Given the description of an element on the screen output the (x, y) to click on. 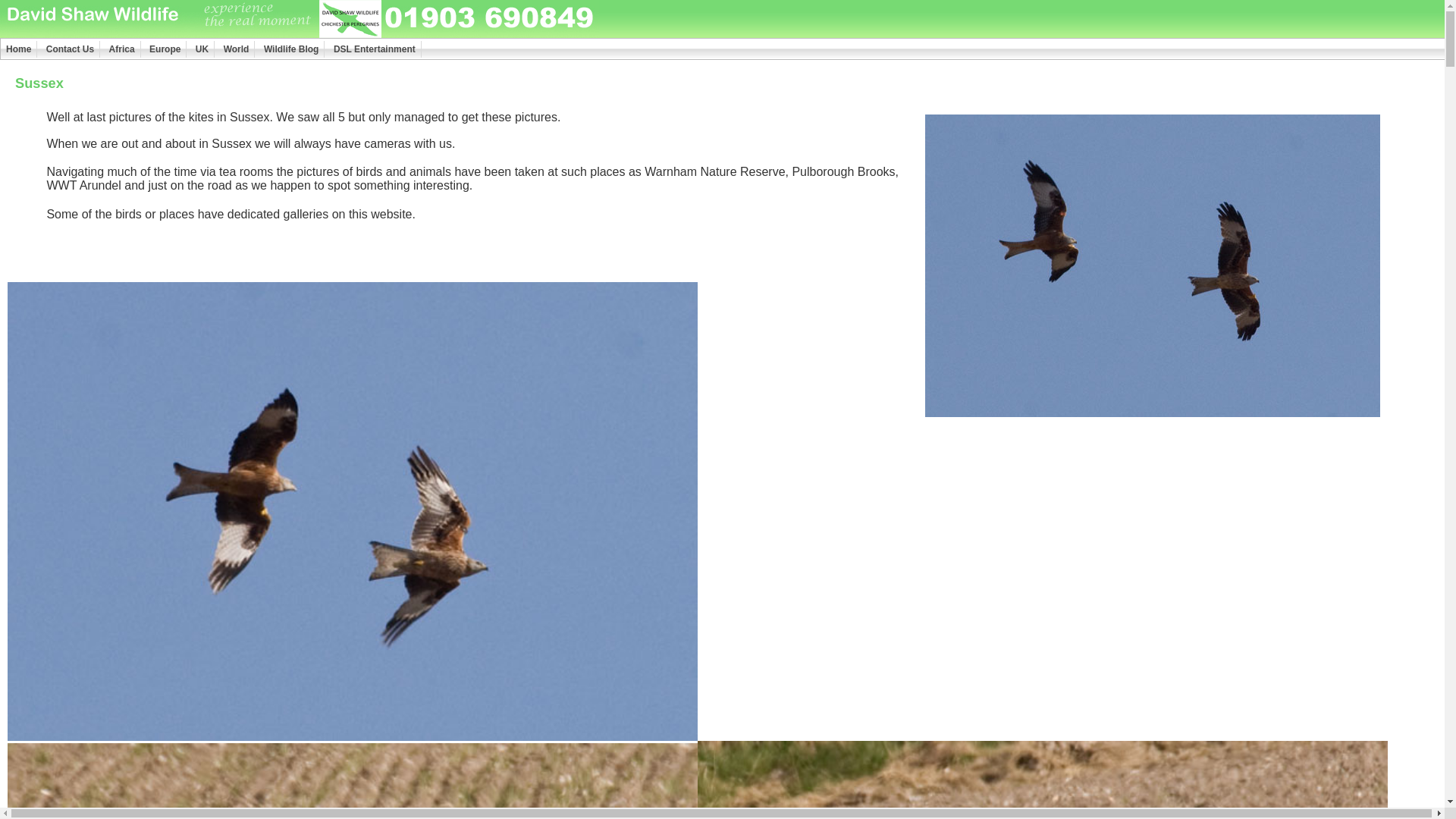
David Shaw Leisure - High Quality Entertainment Services (375, 48)
Africa Galleries (122, 48)
United Kingdom Galleries (202, 48)
Contact Us (70, 48)
World (237, 48)
DSL Entertainment (375, 48)
UK (202, 48)
Wildlife Blog (291, 48)
Africa (122, 48)
Home (19, 48)
About our Photography (19, 48)
Rest of the World Galleries (237, 48)
Europe Galleries (165, 48)
Europe (165, 48)
David Shaw Wildlife Blog (291, 48)
